Given the description of an element on the screen output the (x, y) to click on. 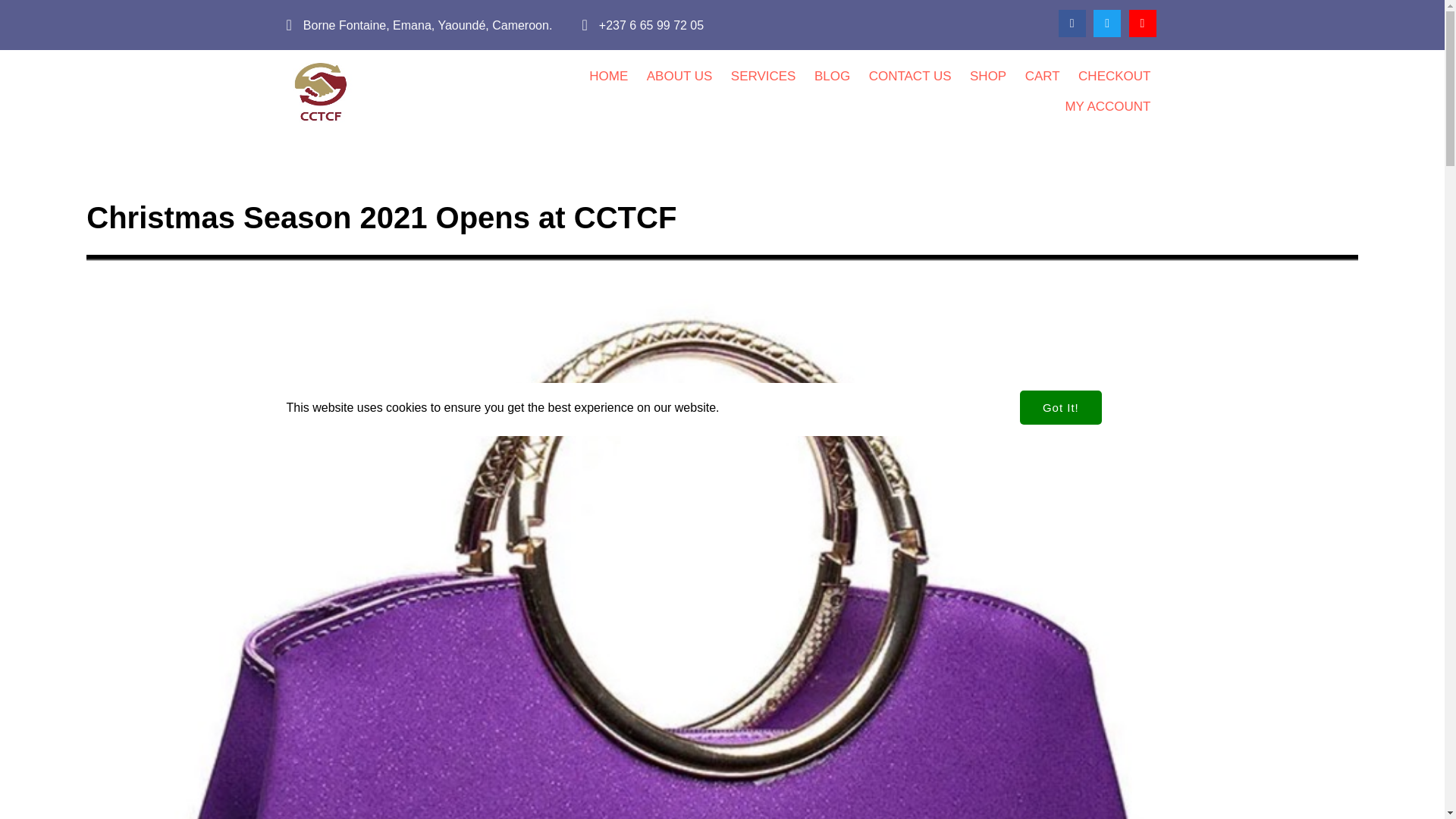
cctcf small logo (320, 91)
SERVICES (763, 76)
Got It! (1061, 354)
CHECKOUT (1113, 76)
CART (1042, 76)
CONTACT US (910, 76)
ABOUT US (679, 76)
HOME (607, 76)
MY ACCOUNT (1107, 106)
SHOP (987, 76)
